Given the description of an element on the screen output the (x, y) to click on. 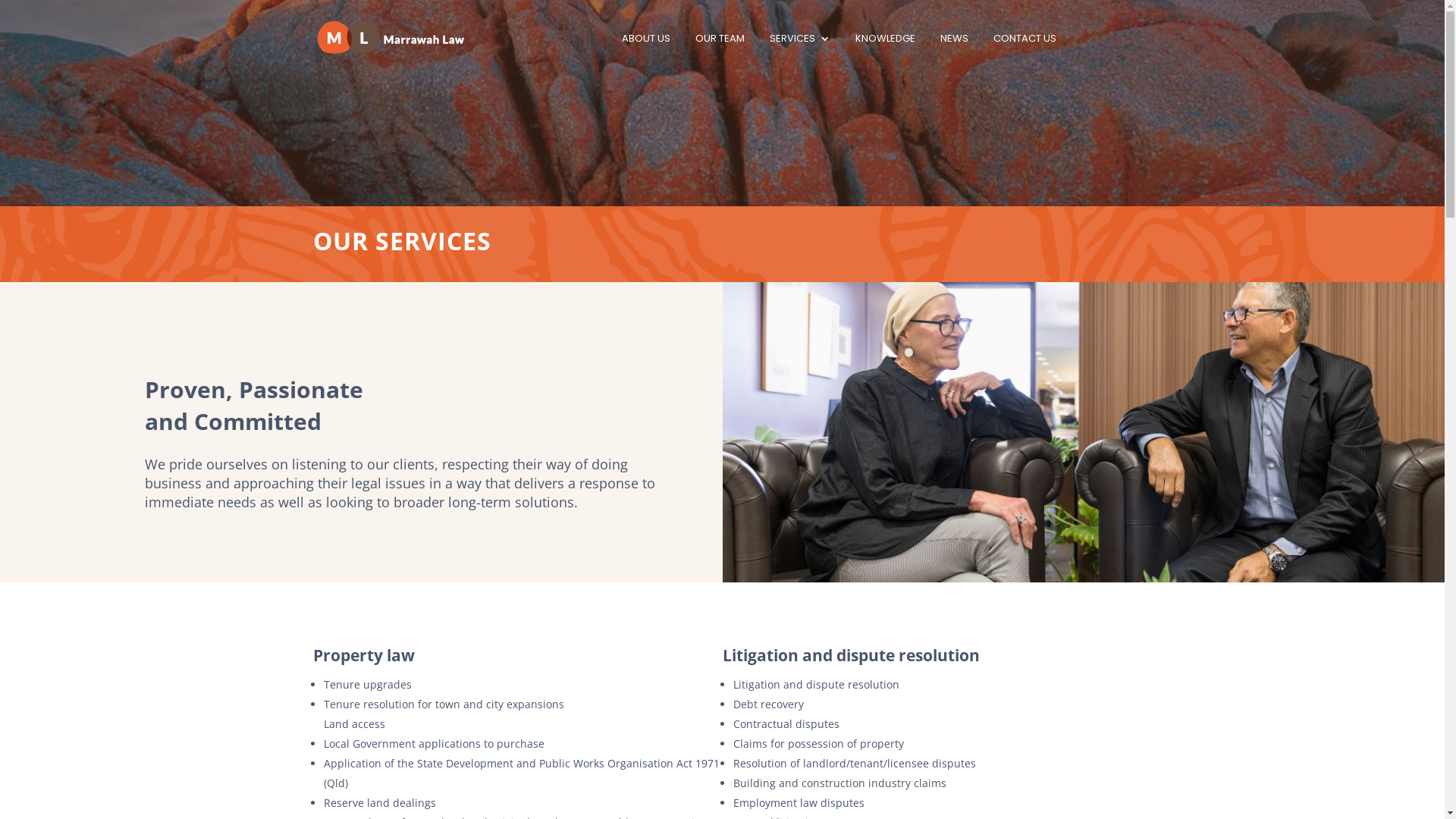
OUR TEAM Element type: text (718, 55)
ABOUT US Element type: text (645, 55)
NEWS Element type: text (954, 55)
KNOWLEDGE Element type: text (885, 55)
SERVICES Element type: text (798, 55)
CONTACT US Element type: text (1024, 55)
